Given the description of an element on the screen output the (x, y) to click on. 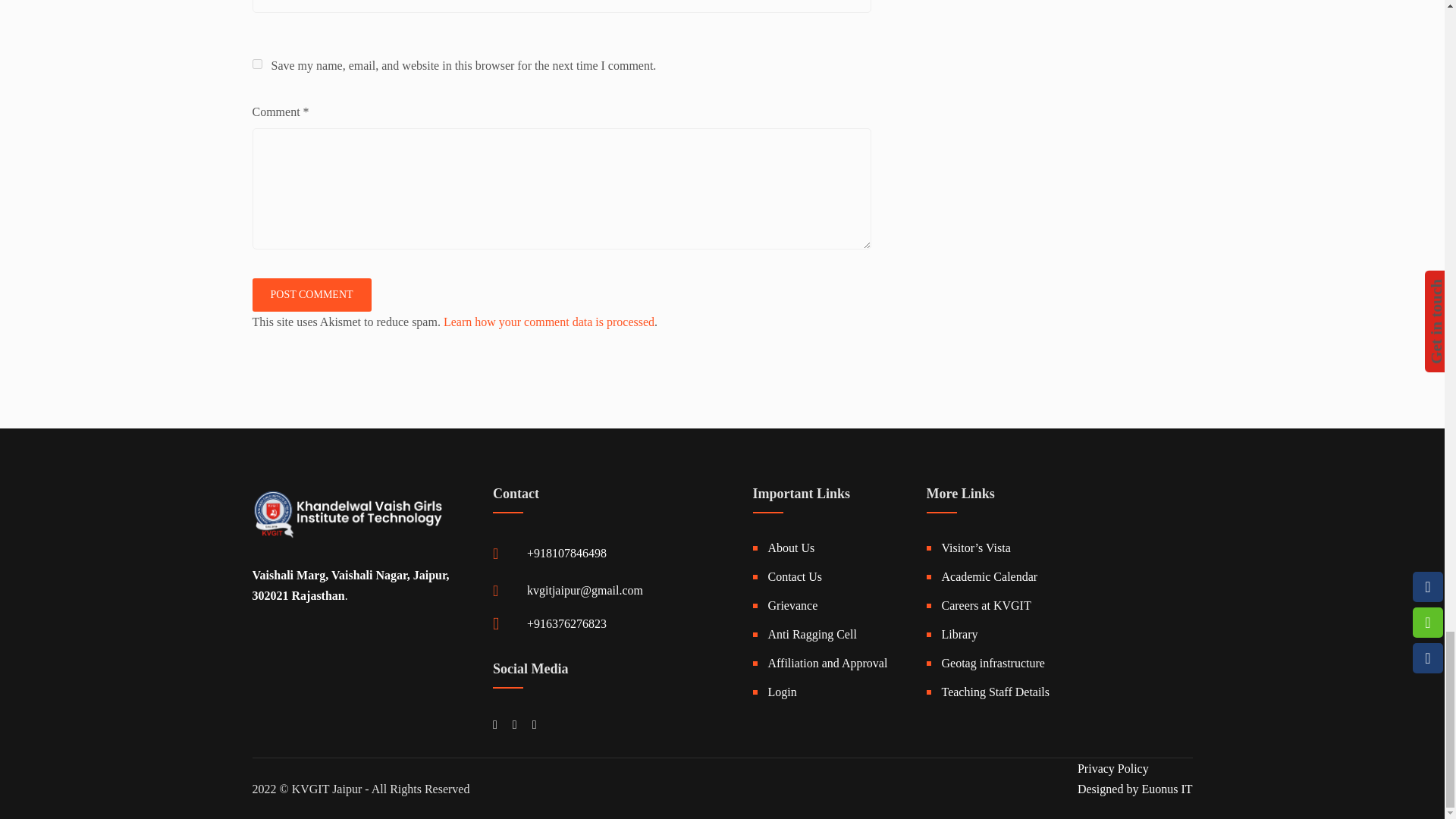
yes (256, 63)
Post Comment (311, 295)
